Given the description of an element on the screen output the (x, y) to click on. 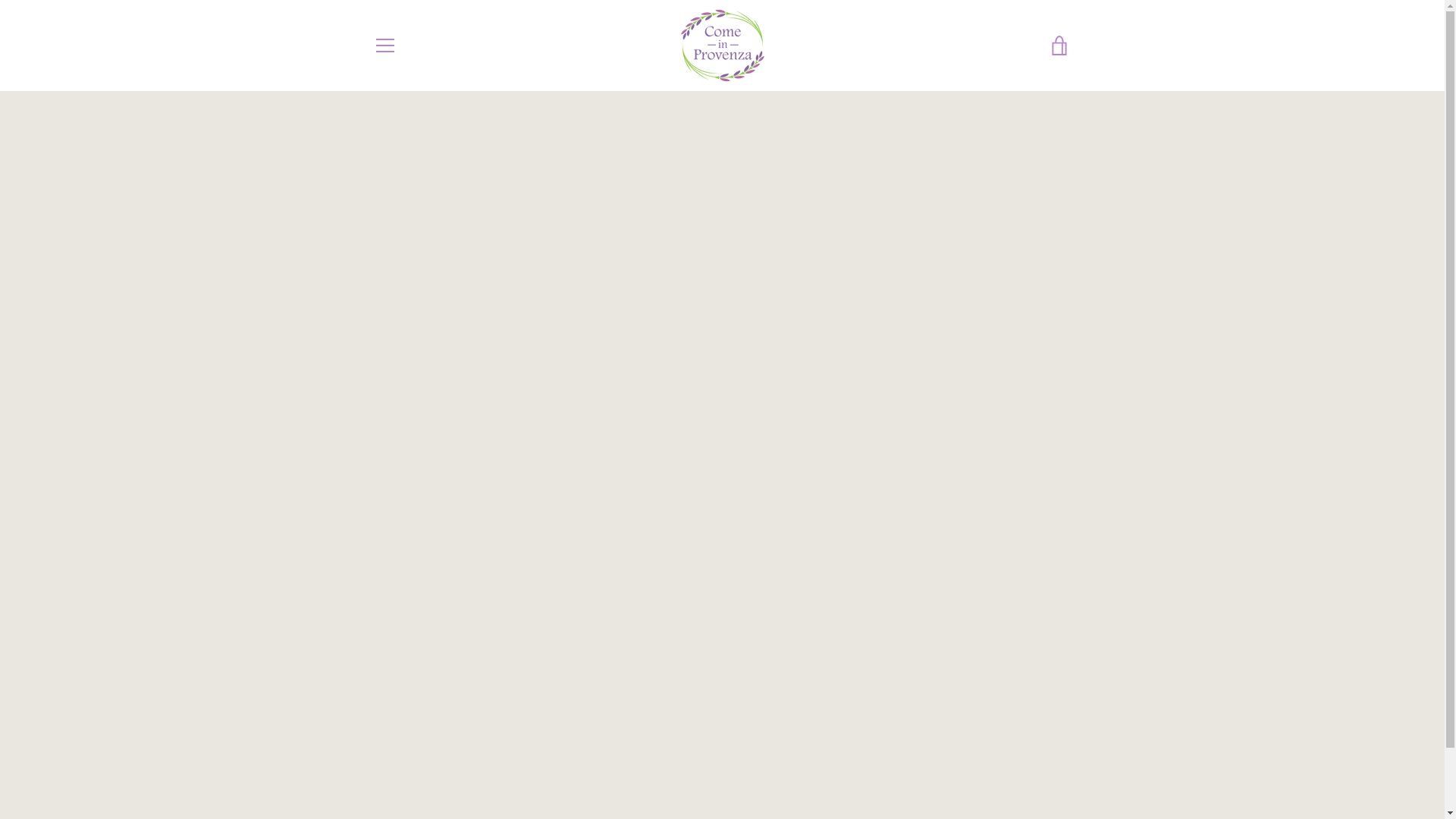
MENU (384, 45)
VIEW CART (1059, 45)
